Given the description of an element on the screen output the (x, y) to click on. 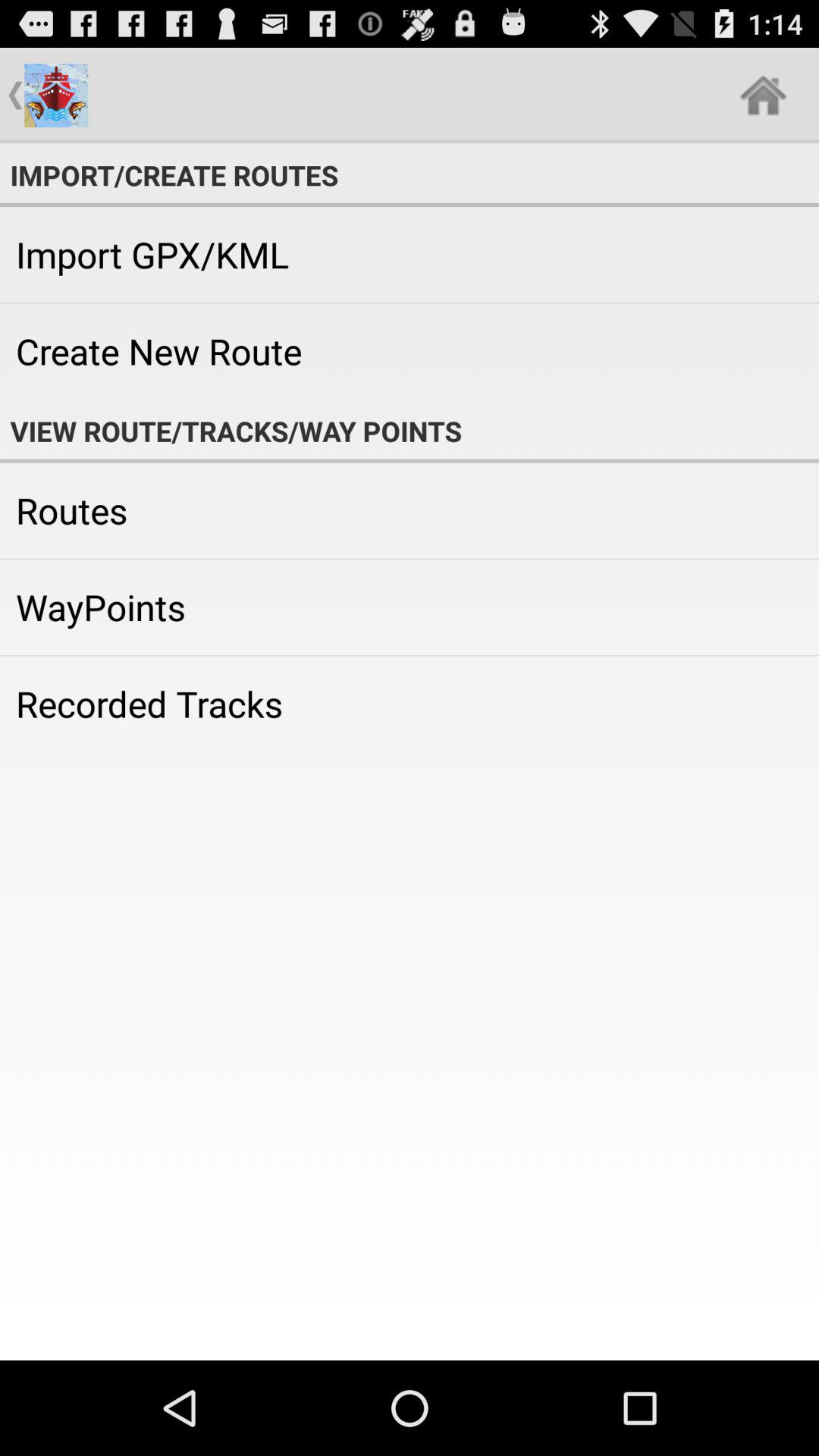
tap the app below routes icon (409, 607)
